Given the description of an element on the screen output the (x, y) to click on. 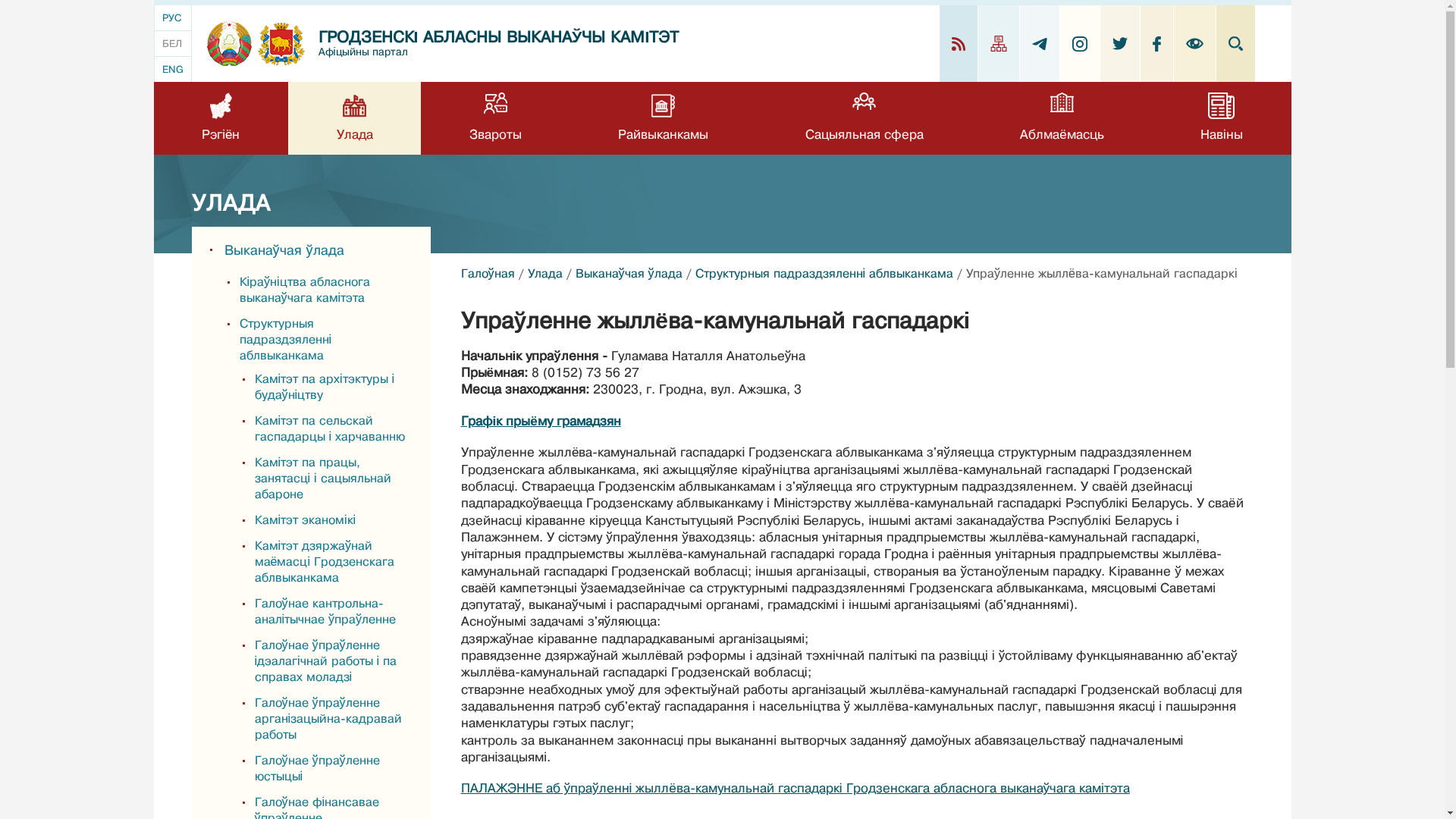
facebook Element type: hover (1156, 43)
sitemap Element type: hover (998, 43)
rss Element type: hover (957, 43)
instagramm Element type: hover (1079, 43)
facebook Element type: hover (1156, 43)
twitter Element type: hover (1118, 43)
twitter Element type: hover (1119, 43)
instagramm Element type: hover (1080, 43)
telegram Element type: hover (1038, 43)
rss Element type: hover (957, 43)
telegram Element type: hover (1039, 43)
ENG Element type: text (172, 68)
sitemap Element type: hover (998, 43)
